Given the description of an element on the screen output the (x, y) to click on. 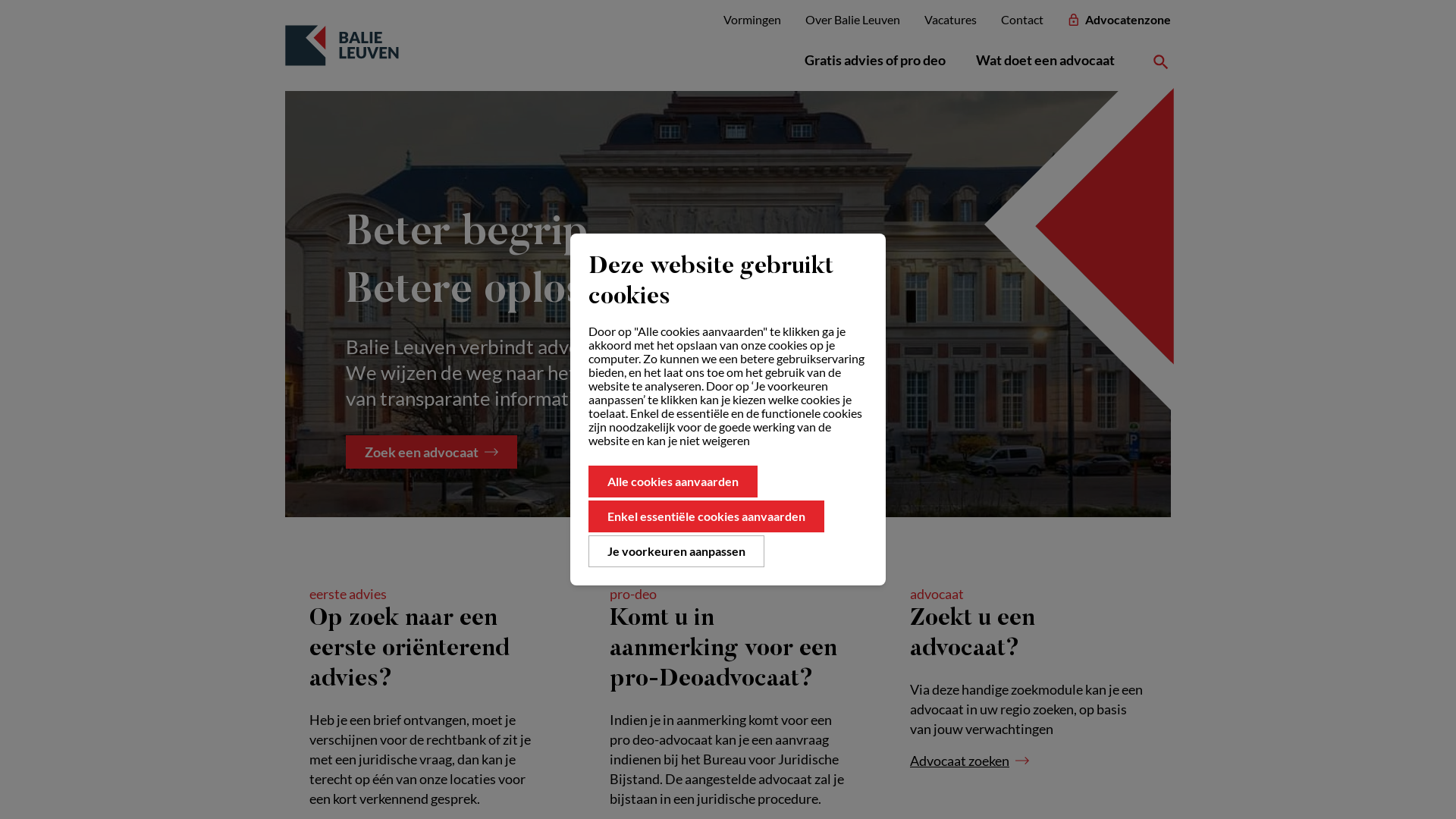
Zoek een advocaat Element type: text (431, 451)
Komt u in aanmerking voor een pro-Deoadvocaat? Element type: text (723, 648)
Contact Element type: text (1022, 19)
Zoeken Element type: text (1160, 59)
Wat doet een advocaat Element type: text (1044, 59)
Vormingen Element type: text (752, 19)
Je voorkeuren aanpassen Element type: text (676, 551)
Advocaat zoeken Element type: text (969, 760)
Over Balie Leuven Element type: text (852, 19)
Alle cookies aanvaarden Element type: text (672, 481)
Gratis advies of pro deo Element type: text (874, 59)
Zoekt u een advocaat? Element type: text (972, 633)
Advocatenzone Element type: text (1118, 19)
Vacatures Element type: text (950, 19)
